Given the description of an element on the screen output the (x, y) to click on. 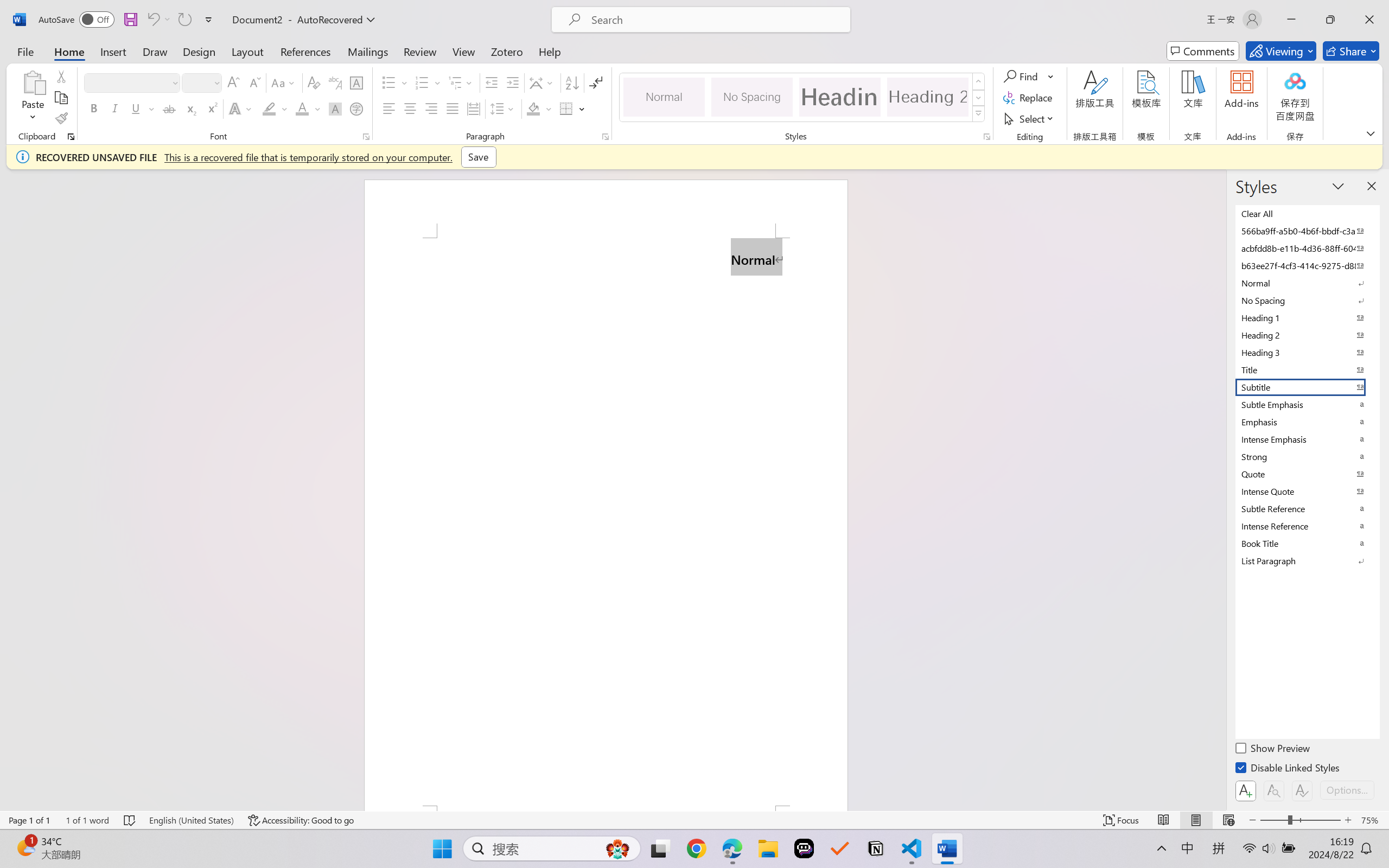
Italic (115, 108)
Shading (539, 108)
Class: NetUIScrollBar (1219, 489)
Center (409, 108)
Text Highlight Color (274, 108)
acbfdd8b-e11b-4d36-88ff-6049b138f862 (1306, 247)
Justify (452, 108)
Help (549, 51)
Change Case (284, 82)
